Given the description of an element on the screen output the (x, y) to click on. 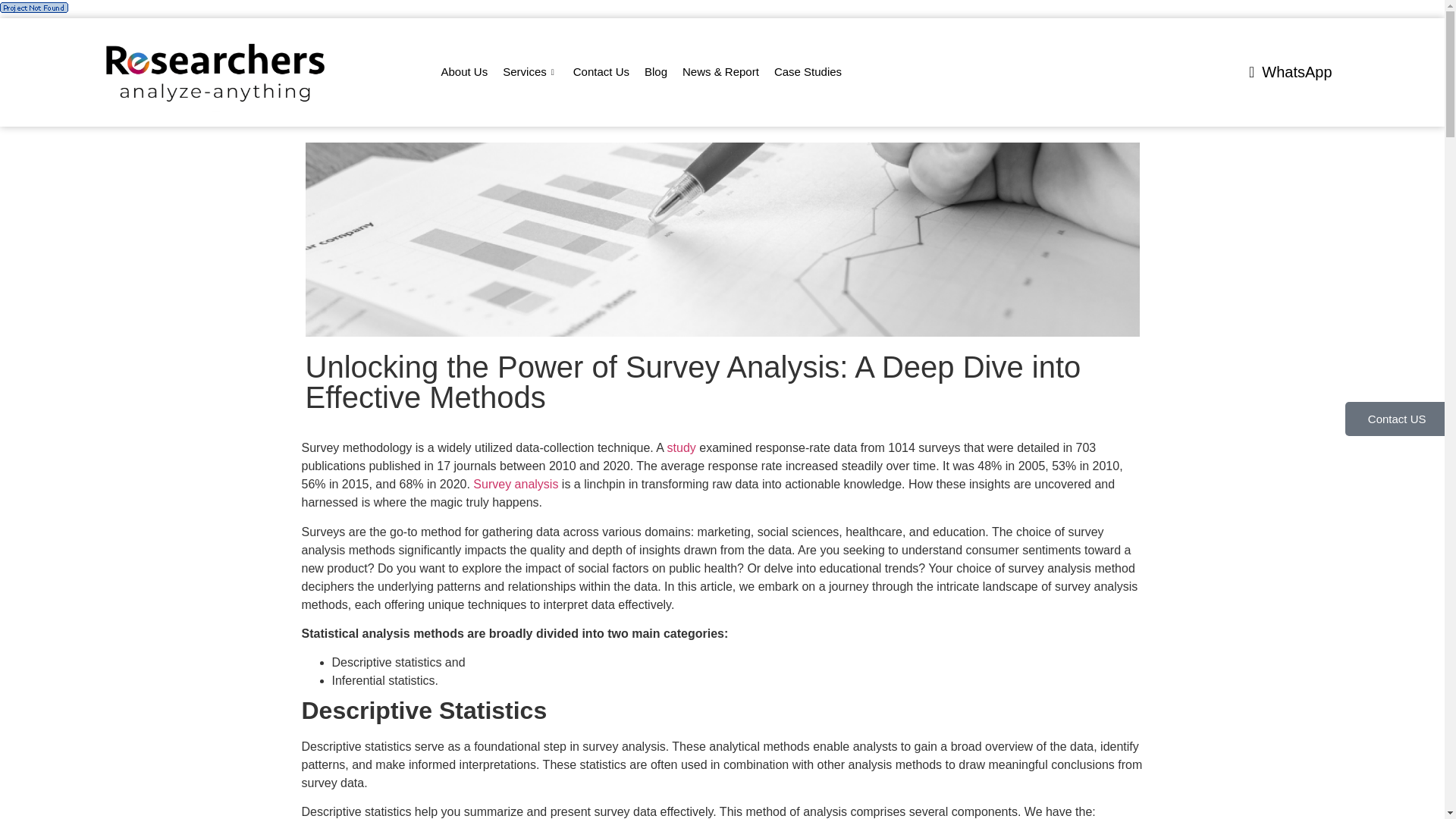
Services (530, 71)
About Us (464, 71)
